Given the description of an element on the screen output the (x, y) to click on. 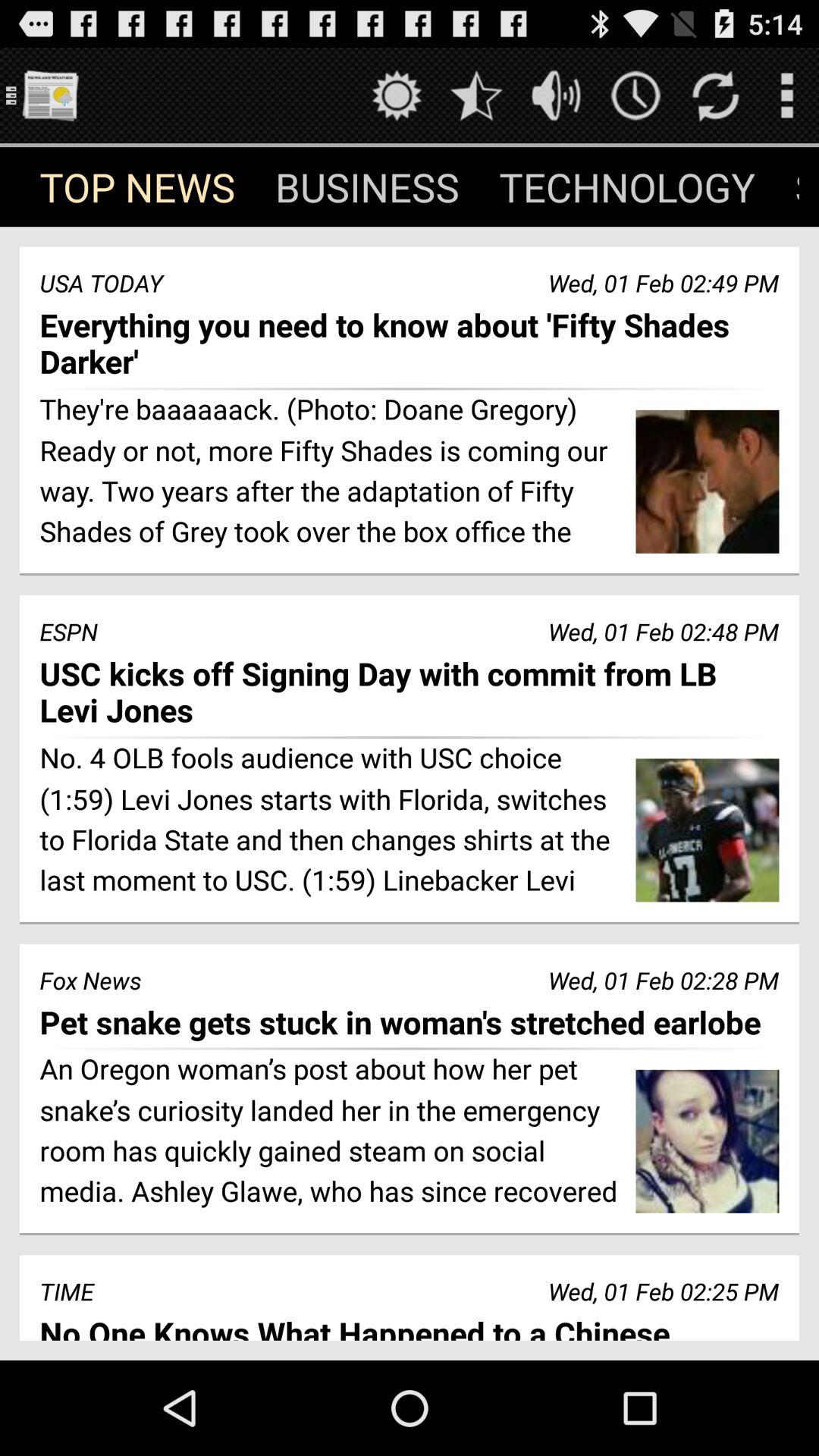
check time (635, 95)
